Given the description of an element on the screen output the (x, y) to click on. 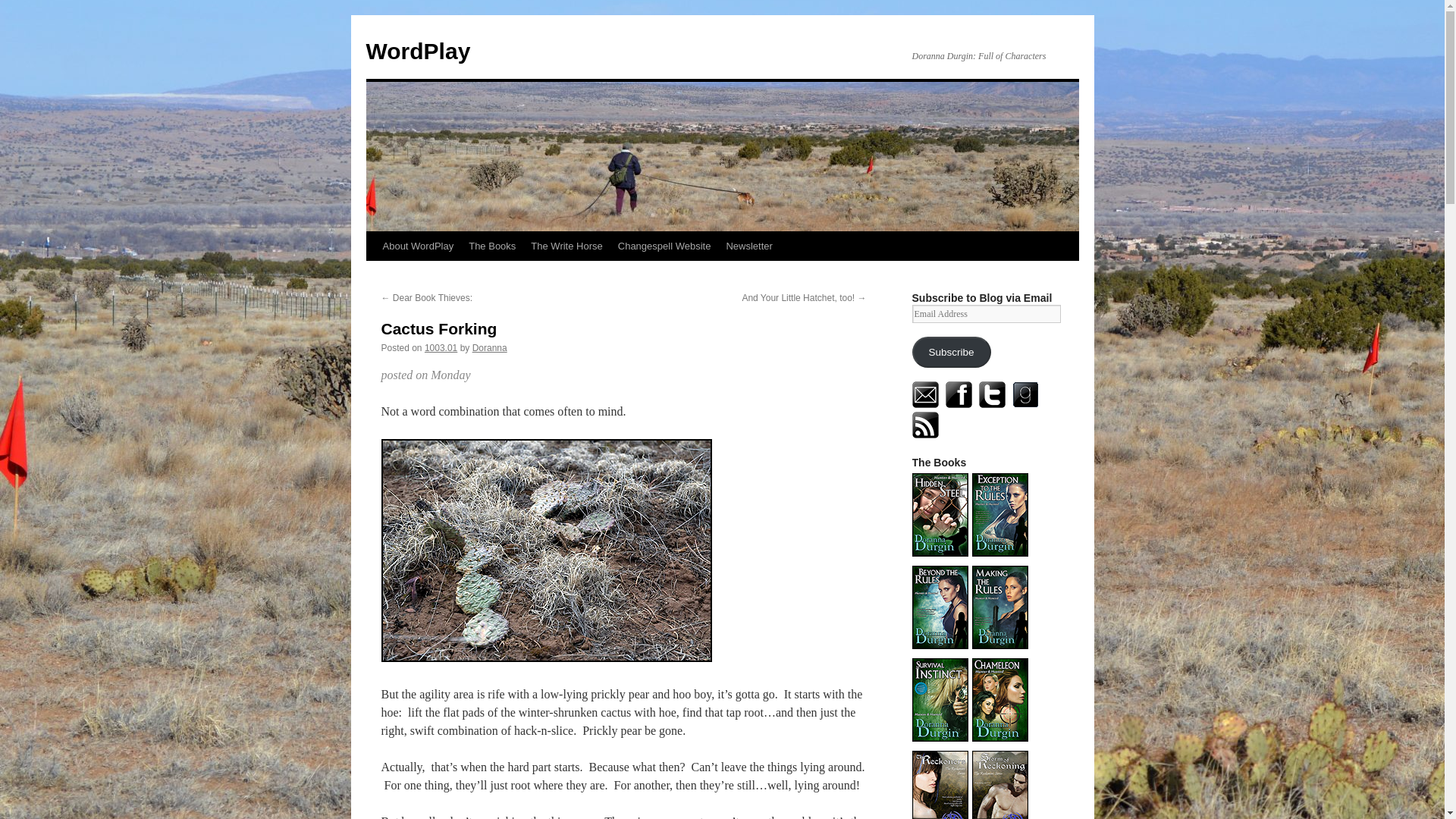
View all posts by Doranna (488, 347)
04:00 (441, 347)
Newsletter (747, 246)
WordPlay (417, 50)
WordPlay (417, 50)
The Books (491, 246)
1002.27cactus.SM.2 (545, 549)
1003.01 (441, 347)
About WordPlay (417, 246)
Changespell Website (664, 246)
